Given the description of an element on the screen output the (x, y) to click on. 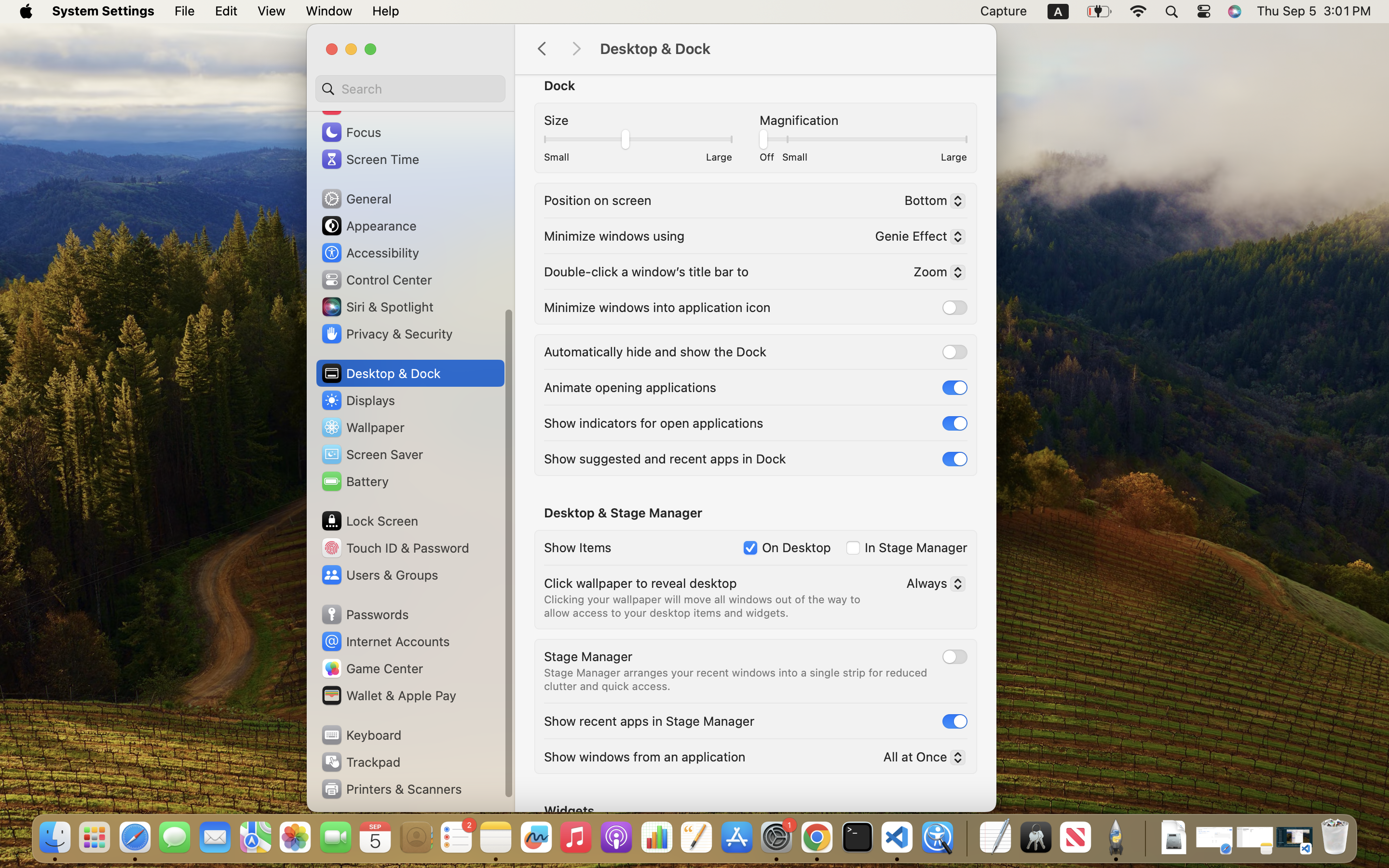
Bottom Element type: AXPopUpButton (930, 201)
Sound Element type: AXStaticText (351, 104)
Focus Element type: AXStaticText (350, 131)
Minimize windows into application icon Element type: AXStaticText (657, 306)
Show suggested and recent apps in Dock Element type: AXStaticText (665, 457)
